Given the description of an element on the screen output the (x, y) to click on. 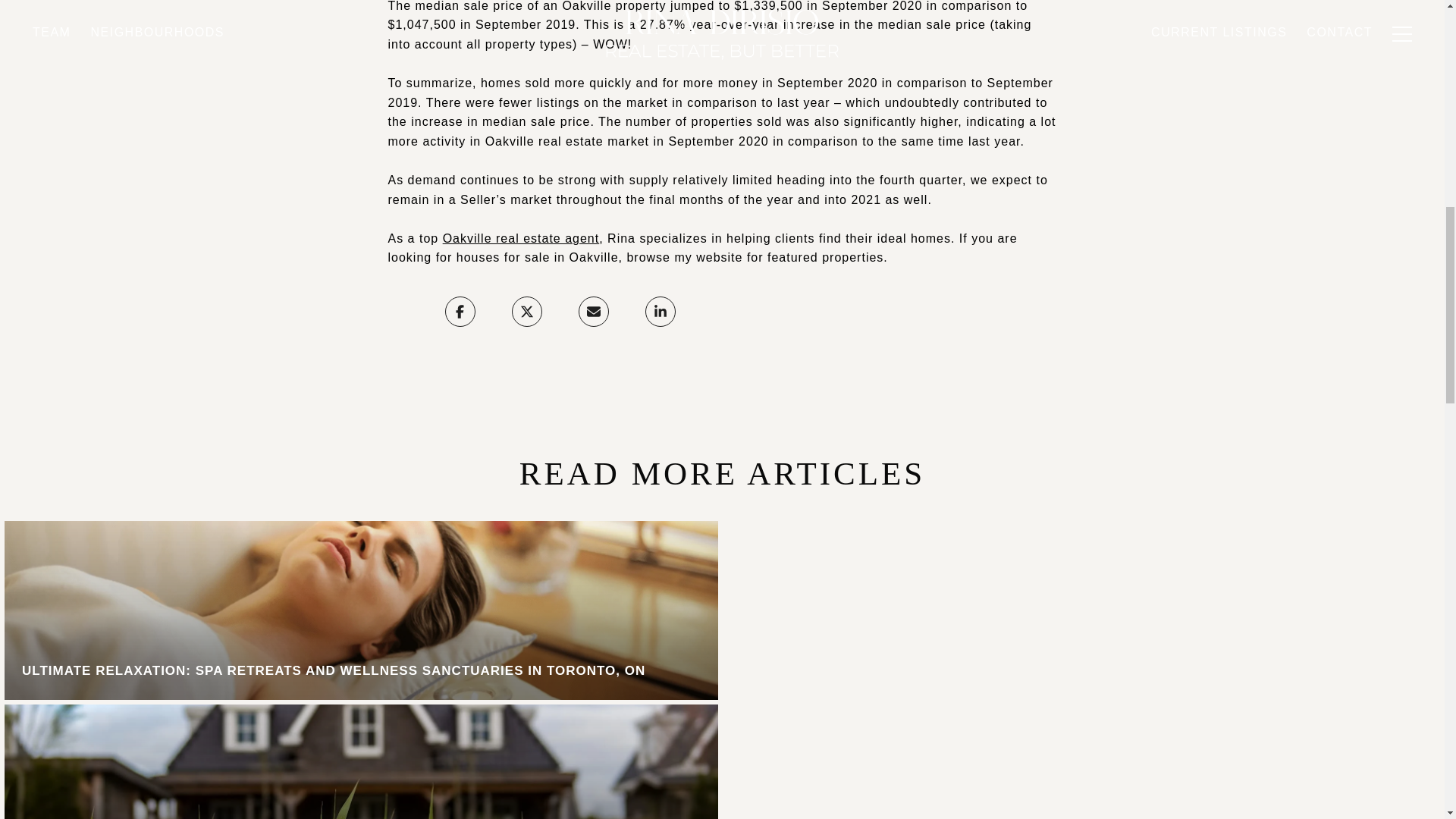
Oakville real estate agent (520, 237)
KEY FEATURES TO LOOK FOR WHEN HUNTING FOR A FAMILY HOME (360, 761)
